Given the description of an element on the screen output the (x, y) to click on. 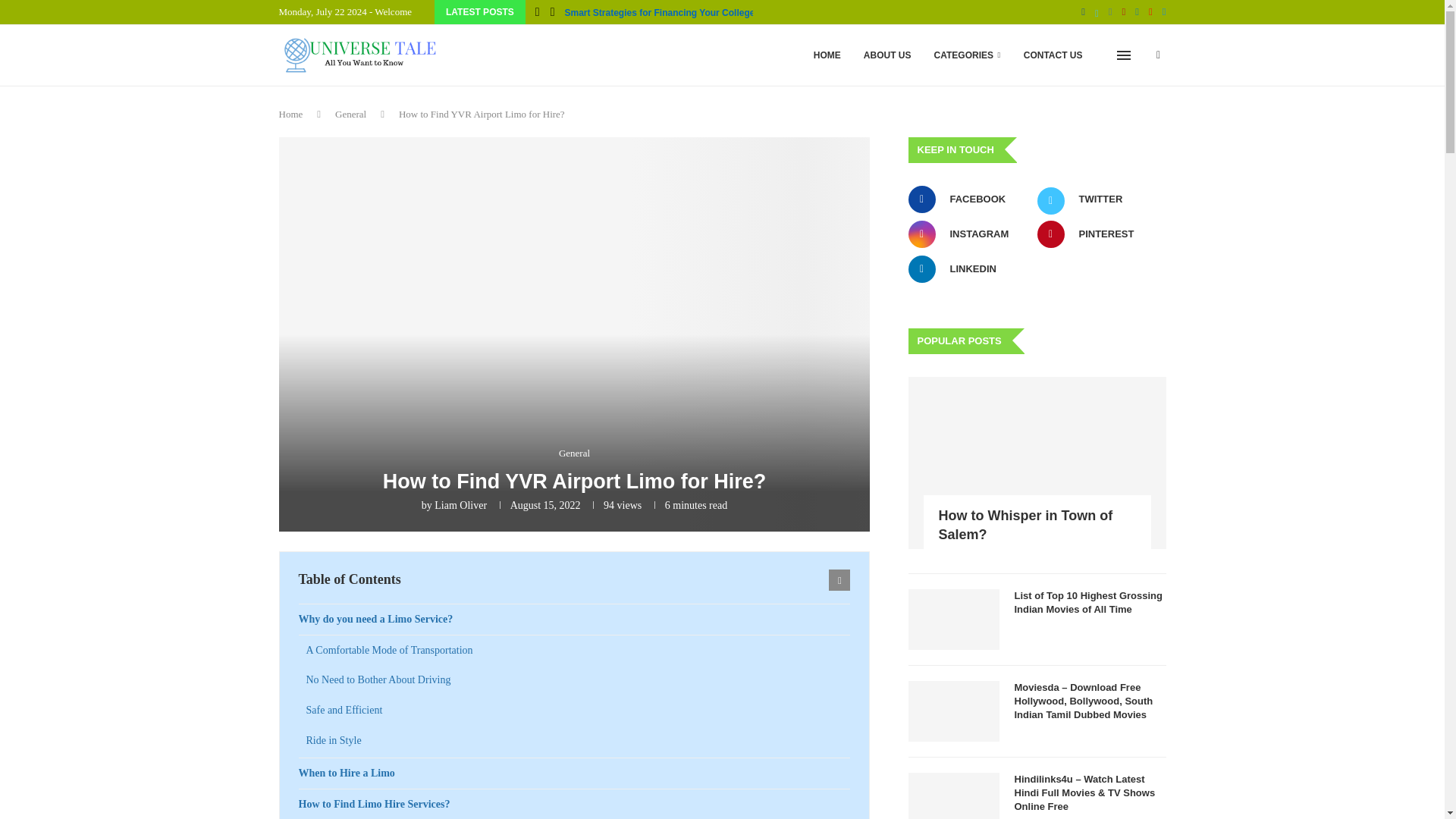
Liam Oliver (459, 505)
Smart Strategies for Financing Your College Education (682, 12)
CATEGORIES (967, 55)
When to Hire a Limo (574, 773)
Ride in Style (577, 740)
When to Hire a Limo (574, 773)
Why do you need a Limo Service? (574, 619)
General (574, 453)
No Need to Bother About Driving (577, 680)
Safe and Efficient (577, 710)
A Comfortable Mode of Transportation (577, 650)
Safe and Efficient (577, 710)
General (350, 113)
CONTACT US (1053, 55)
A Comfortable Mode of Transportation (577, 650)
